Given the description of an element on the screen output the (x, y) to click on. 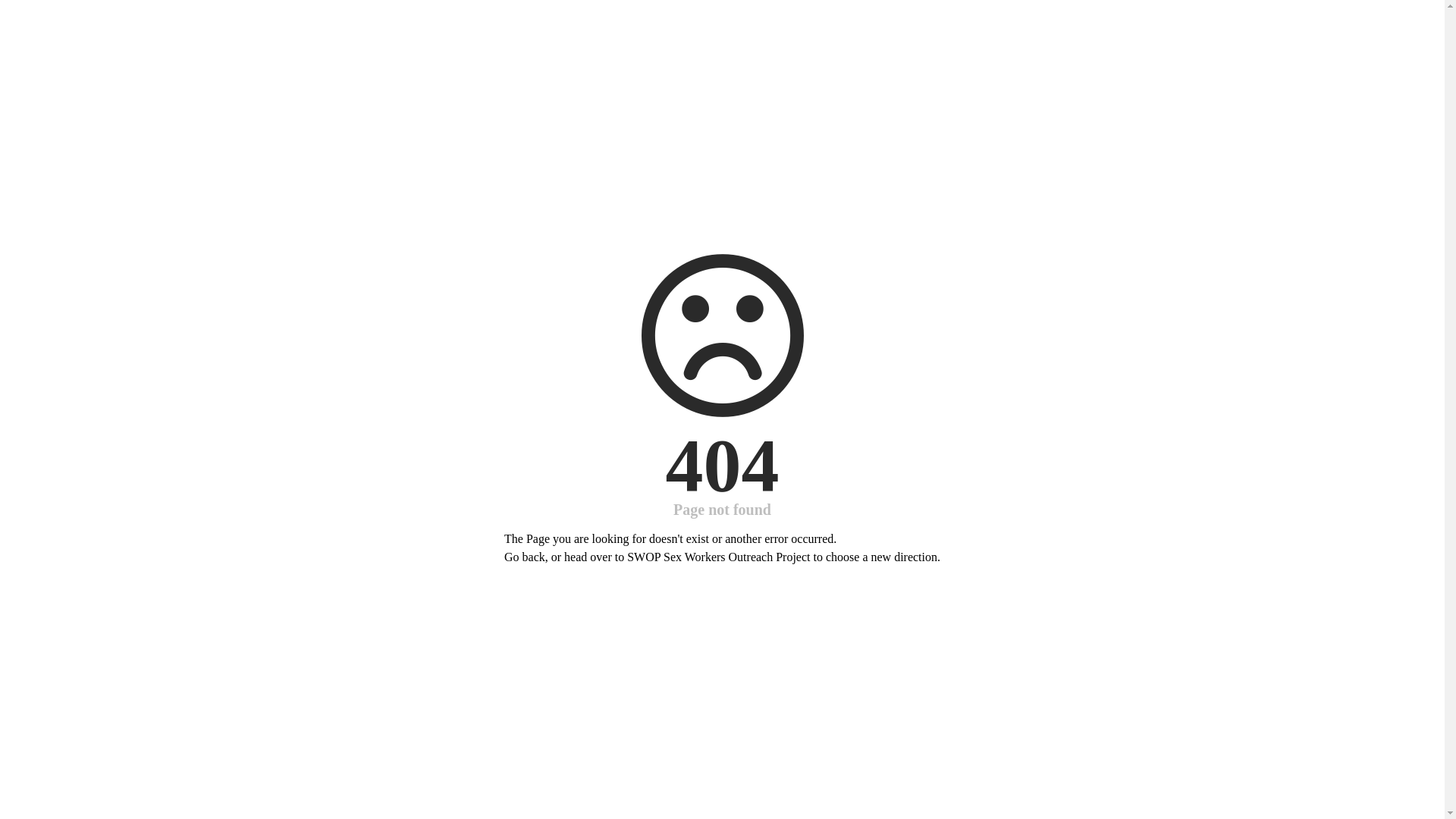
Go back Element type: text (524, 556)
SWOP Sex Workers Outreach Project Element type: text (718, 556)
